Given the description of an element on the screen output the (x, y) to click on. 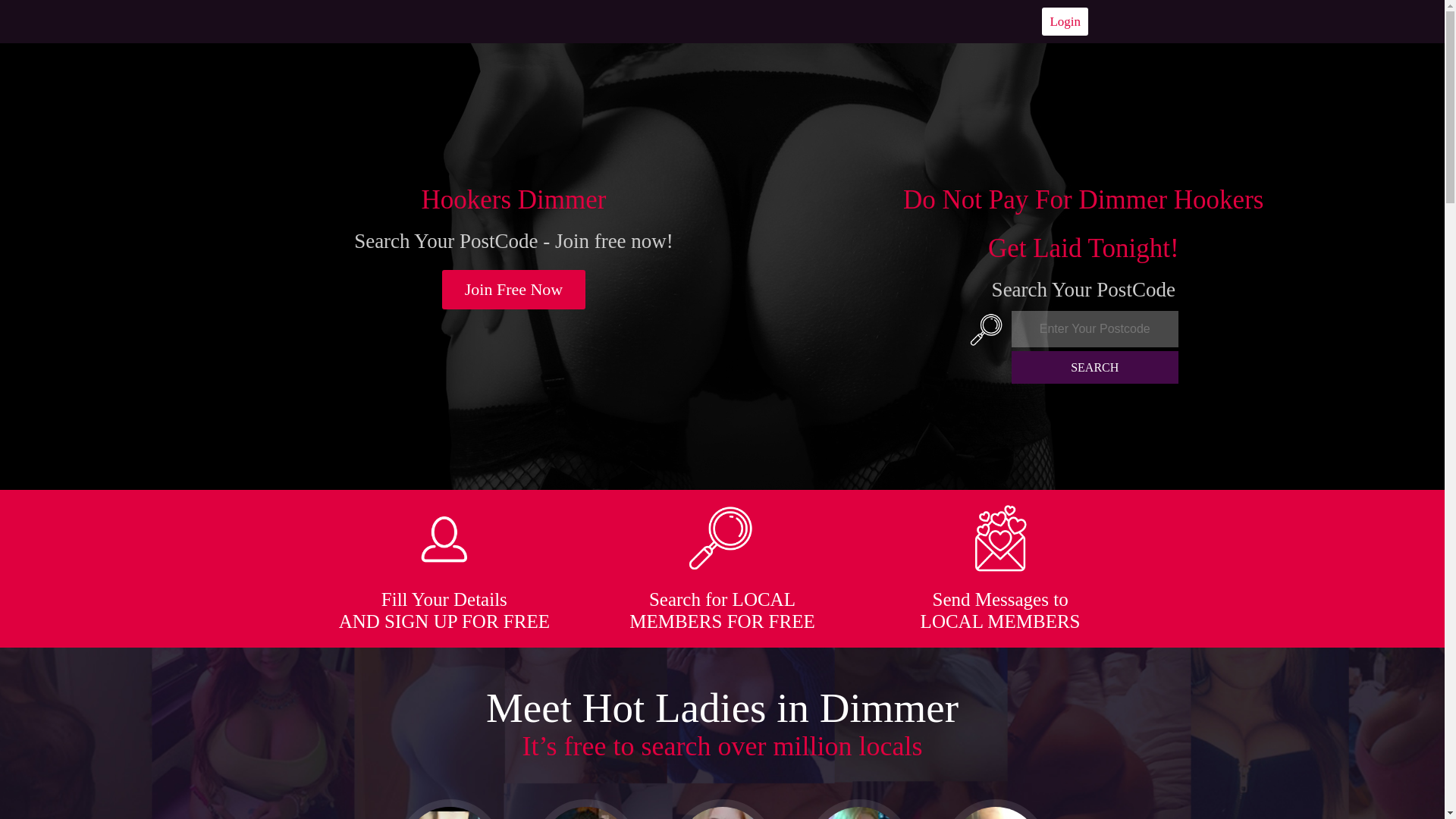
Join Free Now (514, 289)
Login (1064, 21)
Login (1064, 21)
Join (514, 289)
SEARCH (1094, 367)
